Given the description of an element on the screen output the (x, y) to click on. 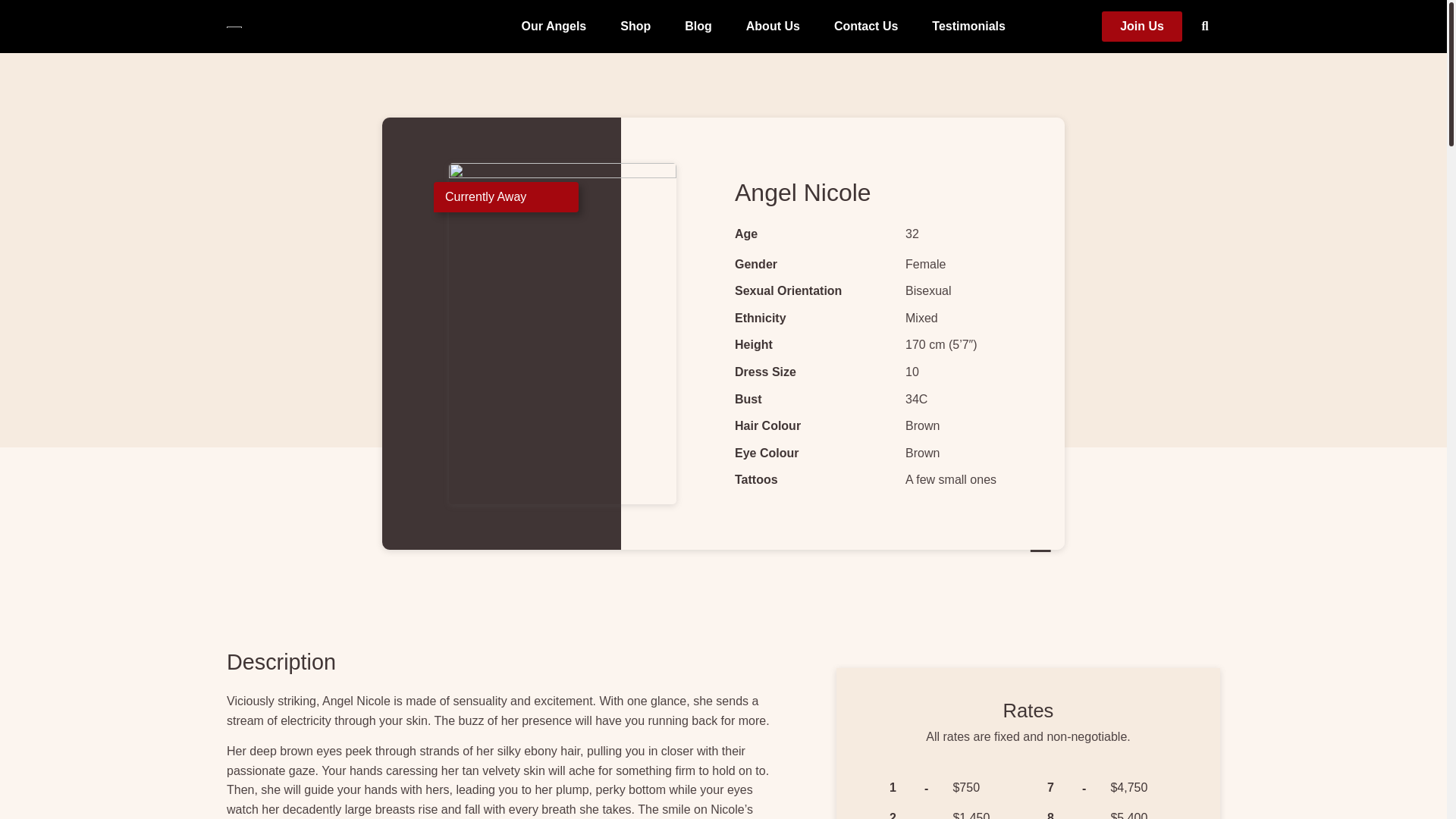
Our Angels (553, 26)
About Us (772, 26)
Testimonials (968, 26)
Join Us (1142, 26)
Blog (697, 26)
Shop (635, 26)
Contact Us (866, 26)
